Given the description of an element on the screen output the (x, y) to click on. 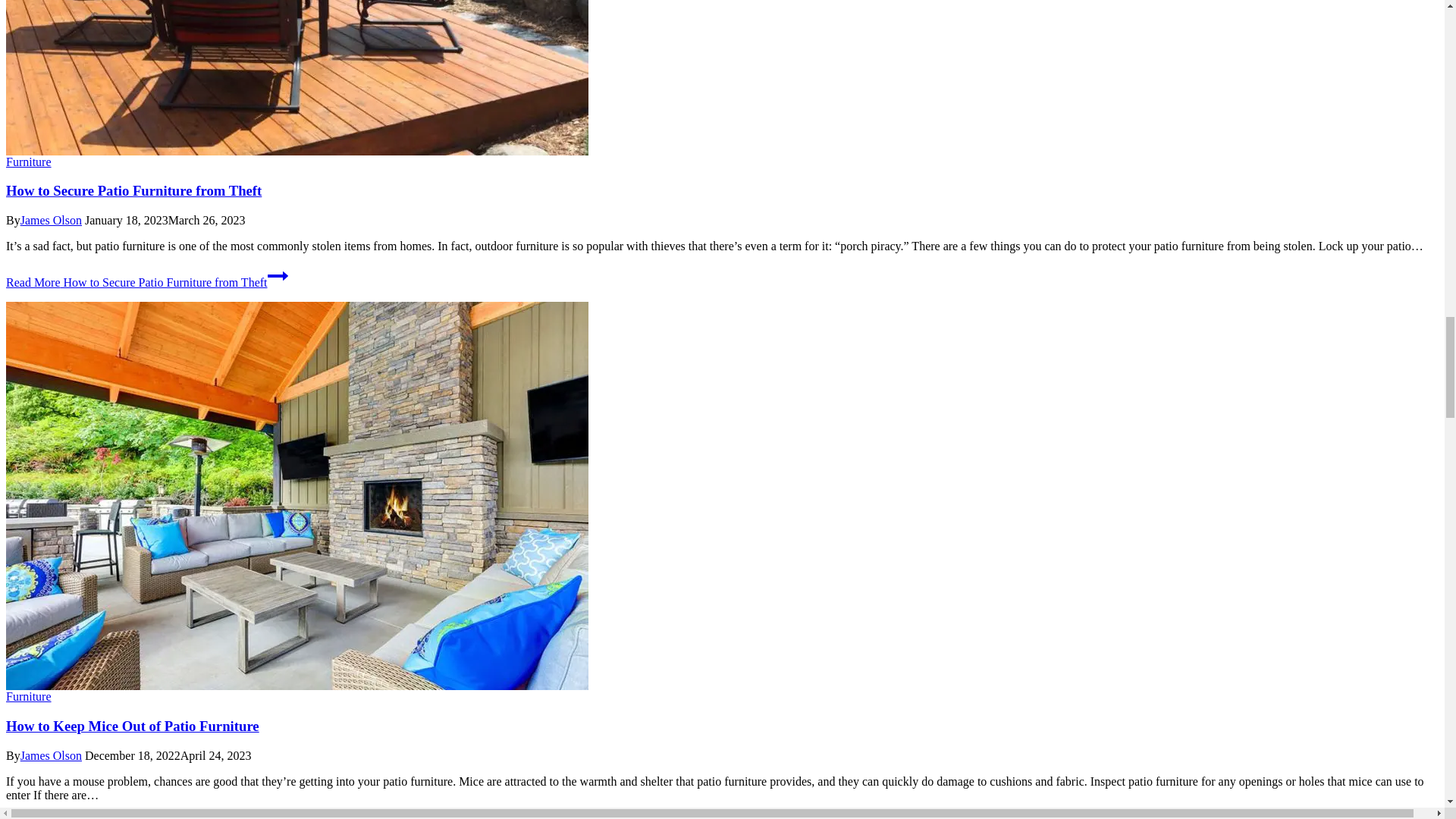
Furniture (27, 161)
James Olson (50, 219)
Read More How to Secure Patio Furniture from TheftContinue (146, 282)
James Olson (50, 755)
How to Keep Mice Out of Patio Furniture (132, 725)
How to Secure Patio Furniture from Theft (133, 190)
Continue (276, 816)
Continue (277, 275)
Furniture (27, 696)
